Given the description of an element on the screen output the (x, y) to click on. 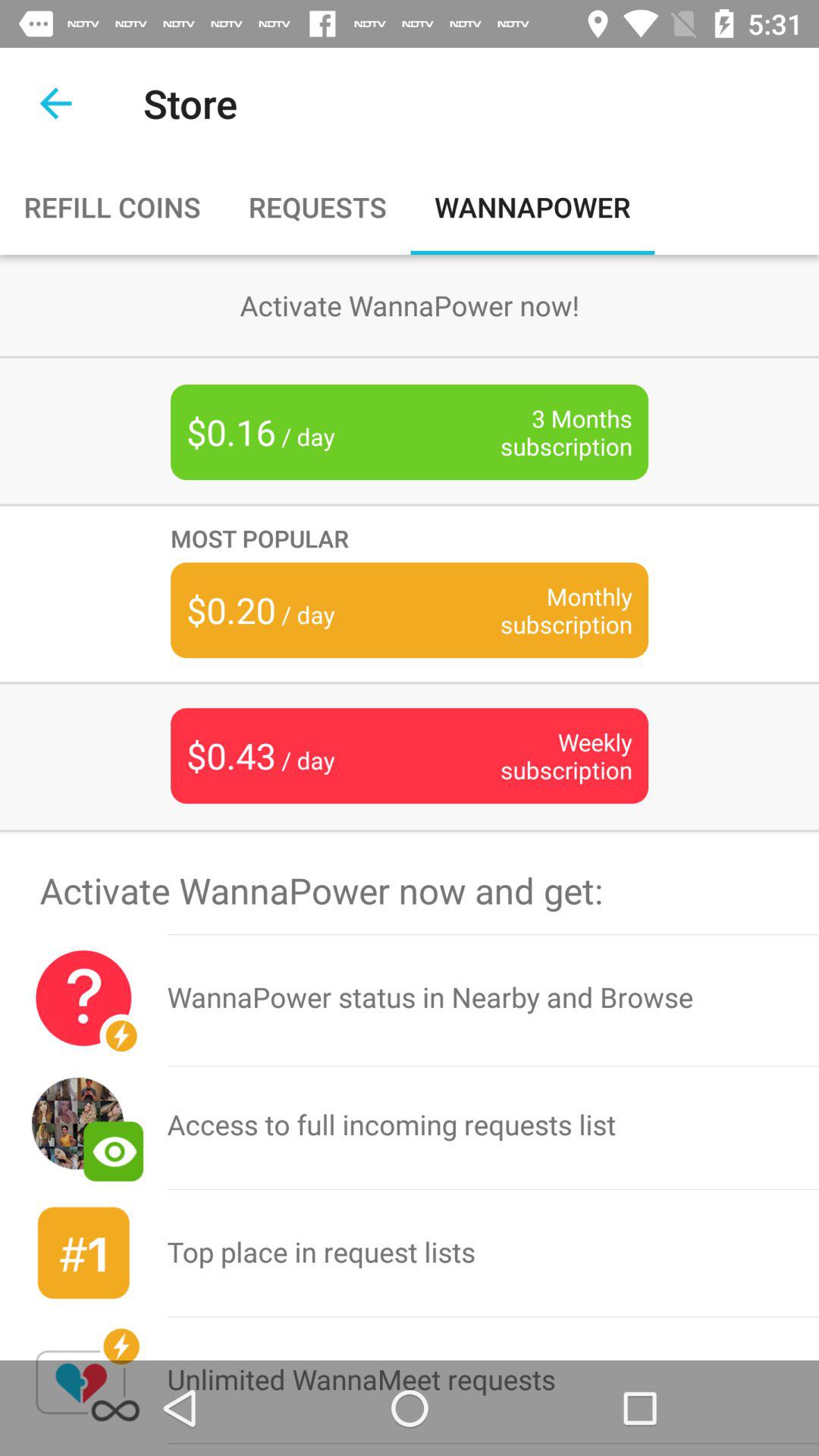
jump until the 3 months subscription item (543, 432)
